Given the description of an element on the screen output the (x, y) to click on. 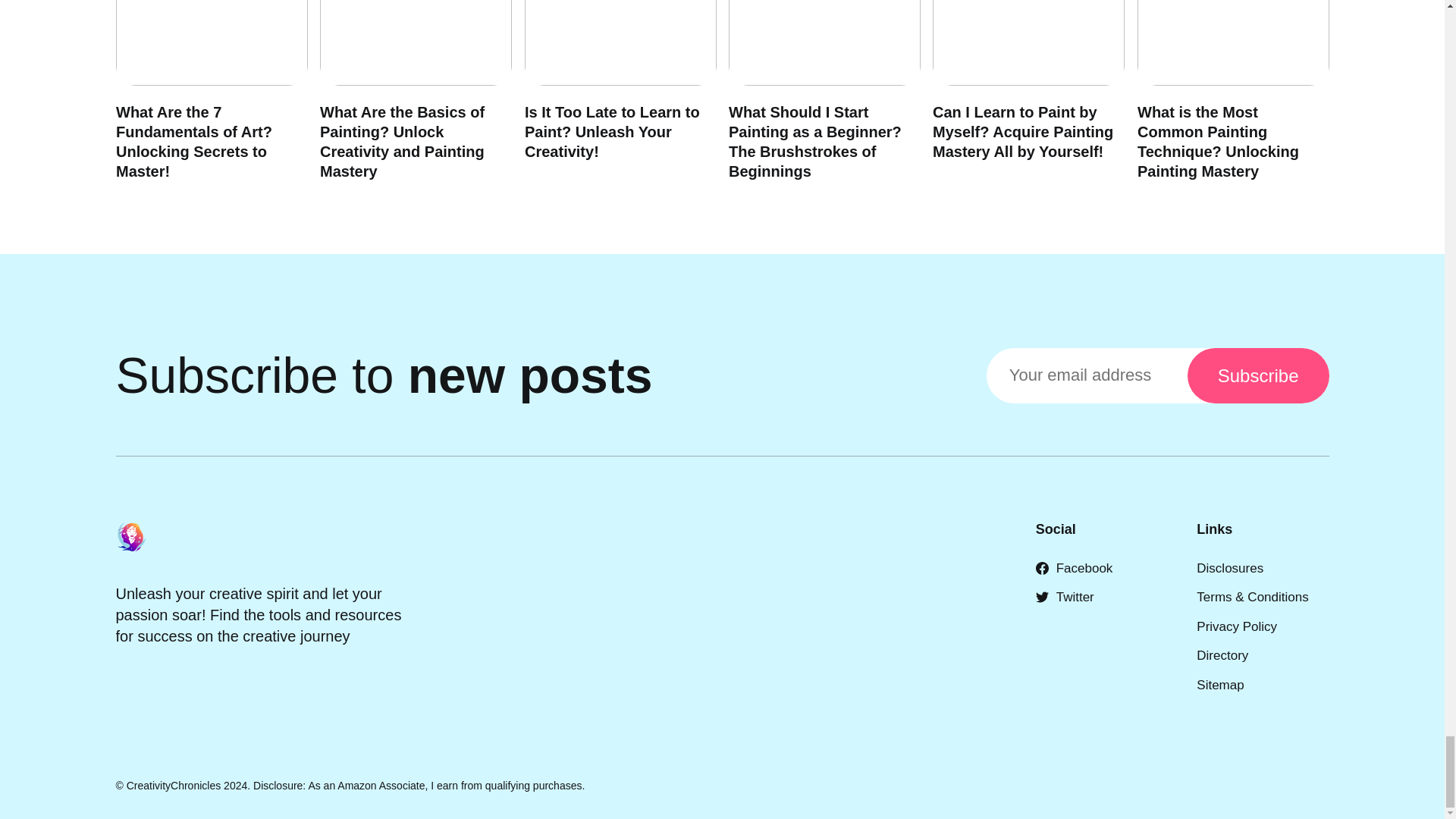
Jessica Carey (344, 60)
Jessica Carey (548, 60)
Jessica Carey (957, 60)
Jessica Carey (1161, 60)
Jessica Carey (140, 60)
Jessica Carey (752, 60)
